Given the description of an element on the screen output the (x, y) to click on. 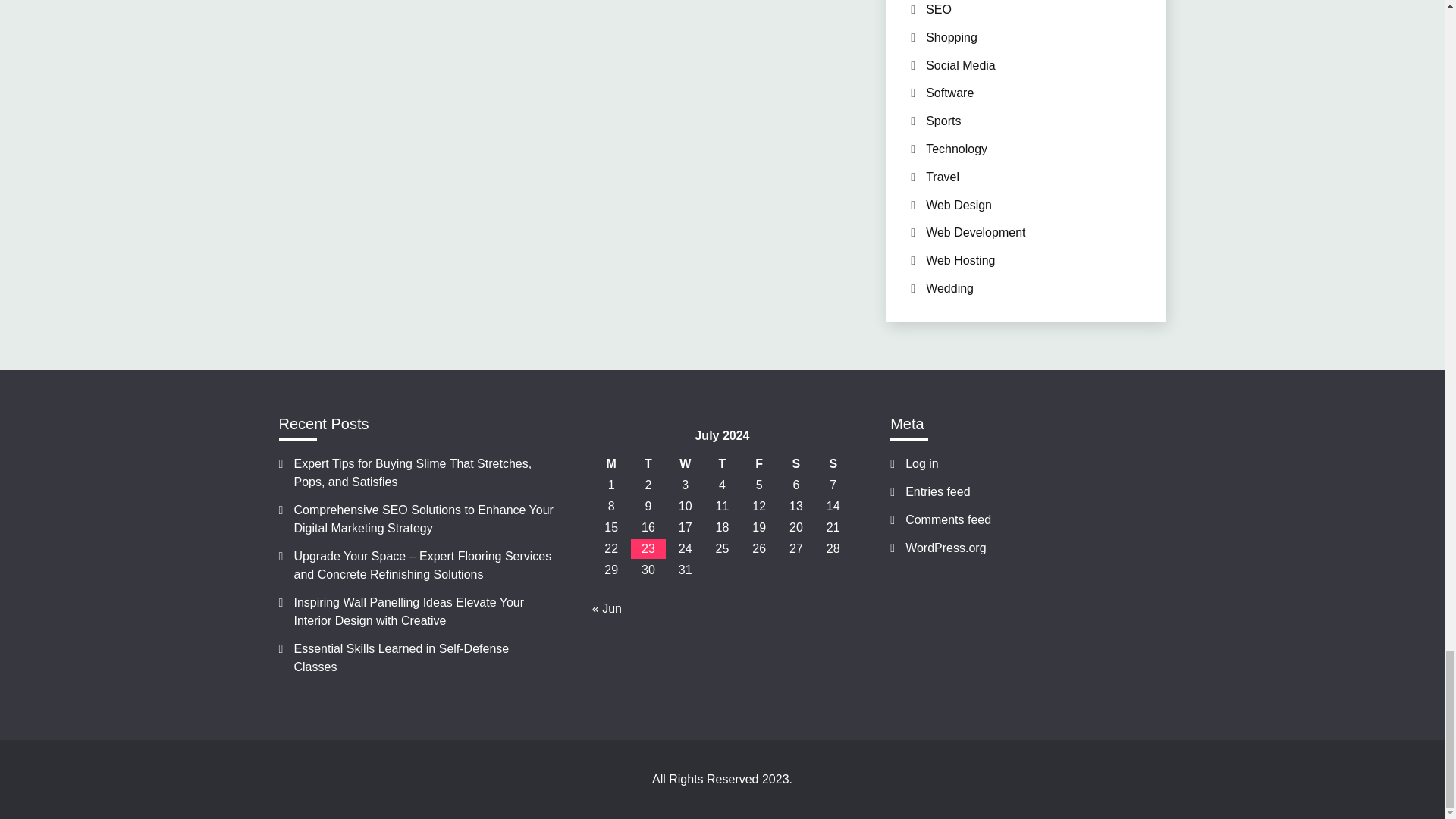
Tuesday (648, 464)
Thursday (721, 464)
Wednesday (684, 464)
Monday (611, 464)
Sunday (832, 464)
Saturday (795, 464)
Friday (759, 464)
